Given the description of an element on the screen output the (x, y) to click on. 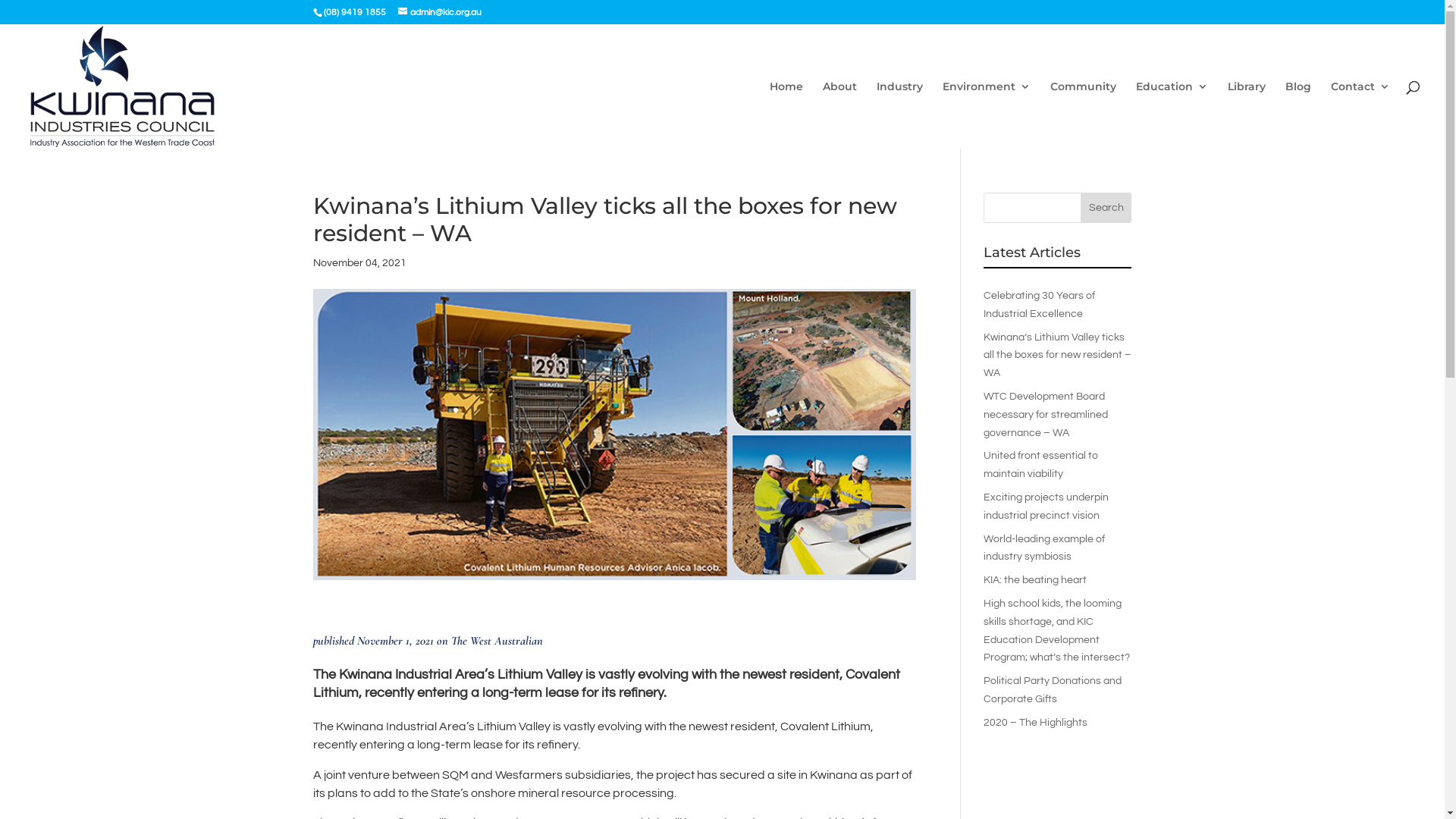
Celebrating 30 Years of Industrial Excellence Element type: text (1039, 304)
Education Element type: text (1171, 114)
United front essential to maintain viability Element type: text (1040, 464)
Search Element type: text (1106, 207)
Home Element type: text (786, 114)
Environment Element type: text (986, 114)
Library Element type: text (1246, 114)
Political Party Donations and Corporate Gifts Element type: text (1052, 689)
Blog Element type: text (1298, 114)
Contact Element type: text (1360, 114)
World-leading example of industry symbiosis Element type: text (1043, 547)
Exciting projects underpin industrial precinct vision Element type: text (1045, 506)
admin@kic.org.au Element type: text (438, 12)
Industry Element type: text (899, 114)
Community Element type: text (1083, 114)
About Element type: text (839, 114)
KIA: the beating heart Element type: text (1034, 579)
